Given the description of an element on the screen output the (x, y) to click on. 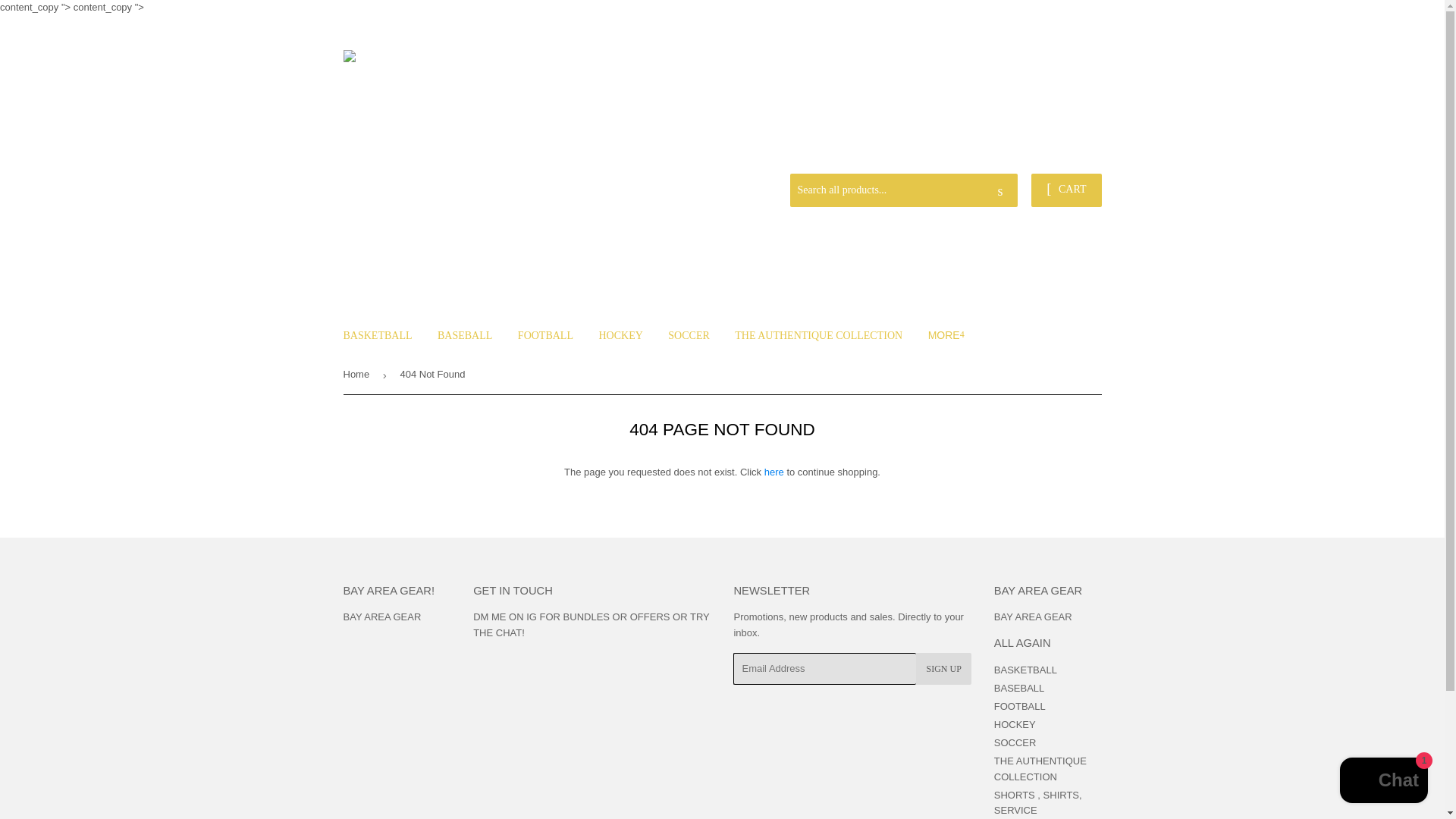
Create an Account (1063, 153)
SOCCER (688, 335)
MORE (946, 334)
BASEBALL (464, 335)
FOOTBALL (545, 335)
15 PERCENT OFF ON OTTO (1034, 141)
CART (1065, 190)
Search (1000, 191)
HOCKEY (619, 335)
BASKETBALL (377, 335)
Shopify online store chat (1383, 781)
Sign in (993, 153)
THE AUTHENTIQUE COLLECTION (818, 335)
